Given the description of an element on the screen output the (x, y) to click on. 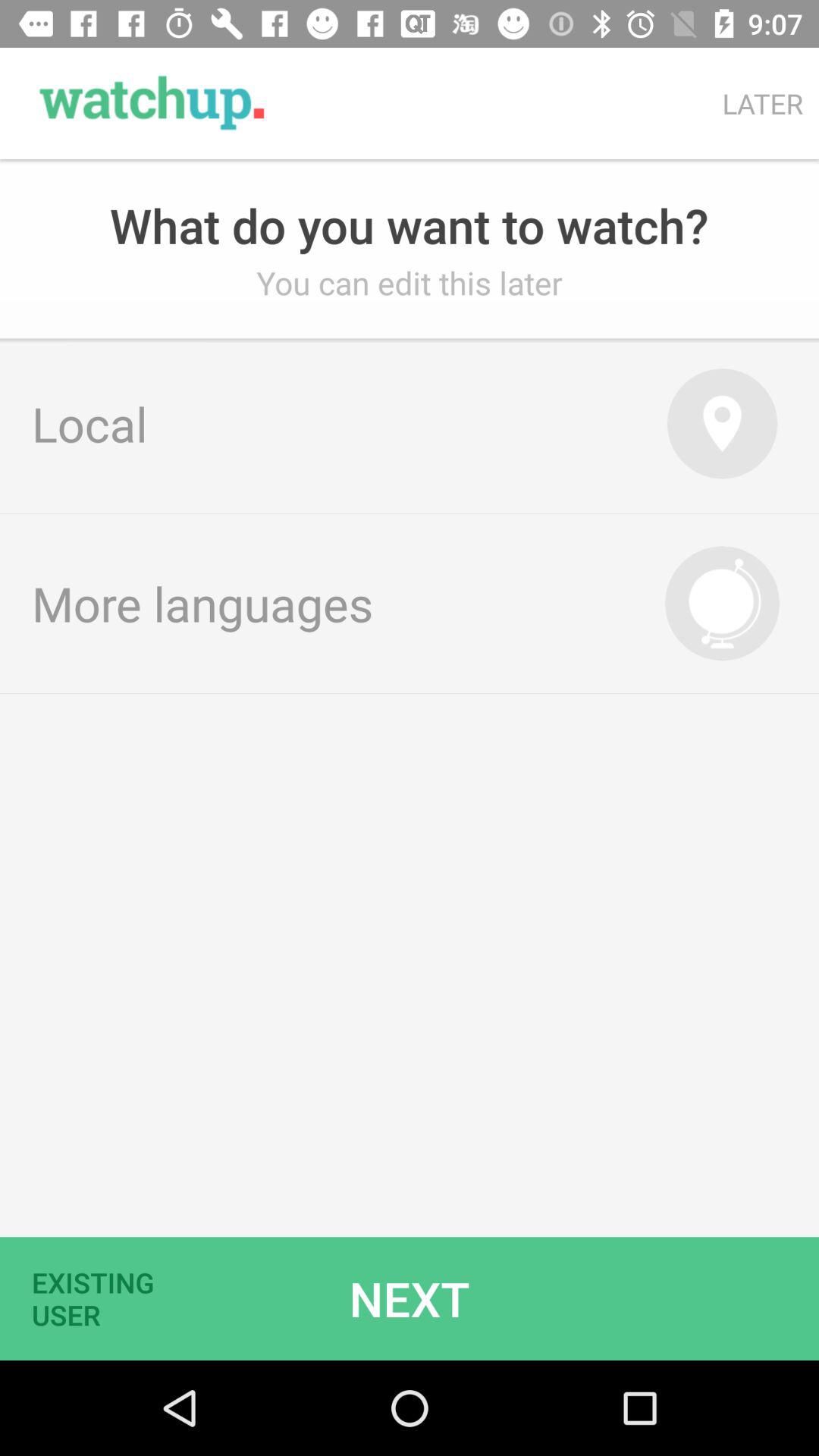
launch the item at the bottom left corner (102, 1298)
